Given the description of an element on the screen output the (x, y) to click on. 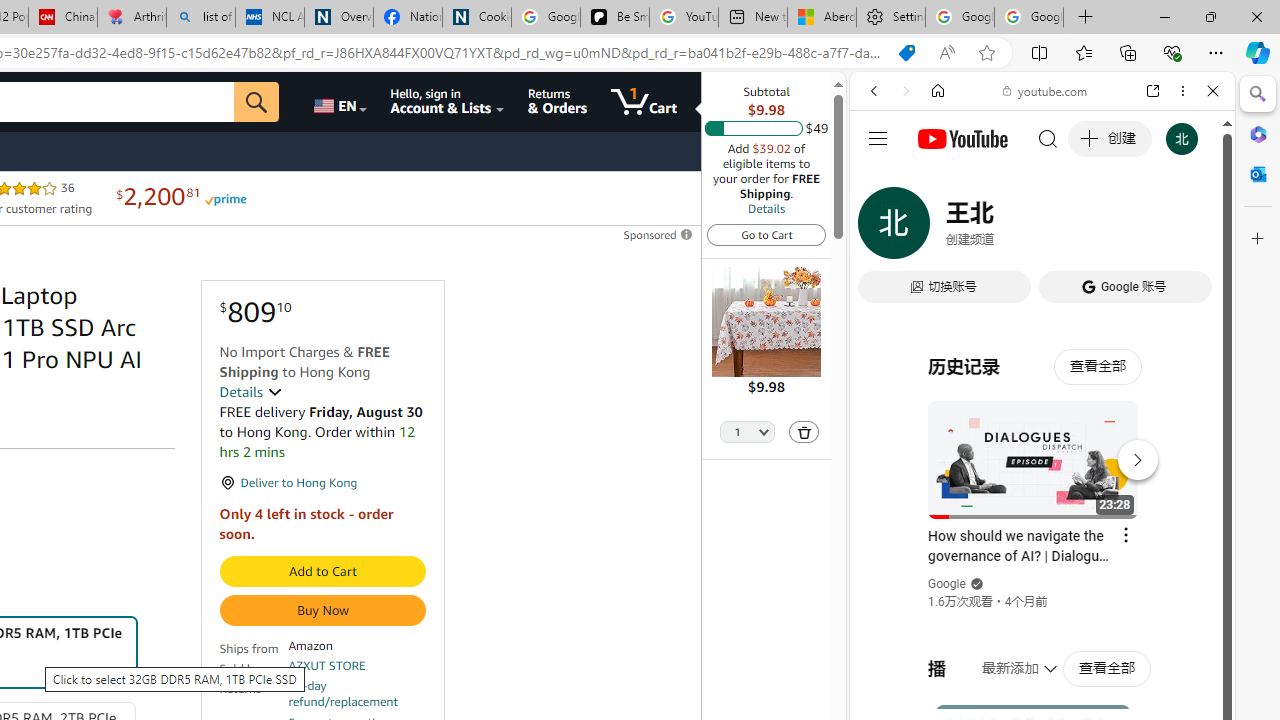
Delete (804, 431)
Details  (250, 391)
Trailer #2 [HD] (1042, 592)
Show More Music (1164, 546)
Aberdeen, Hong Kong SAR hourly forecast | Microsoft Weather (822, 17)
Hello, sign in Account & Lists (447, 101)
